Given the description of an element on the screen output the (x, y) to click on. 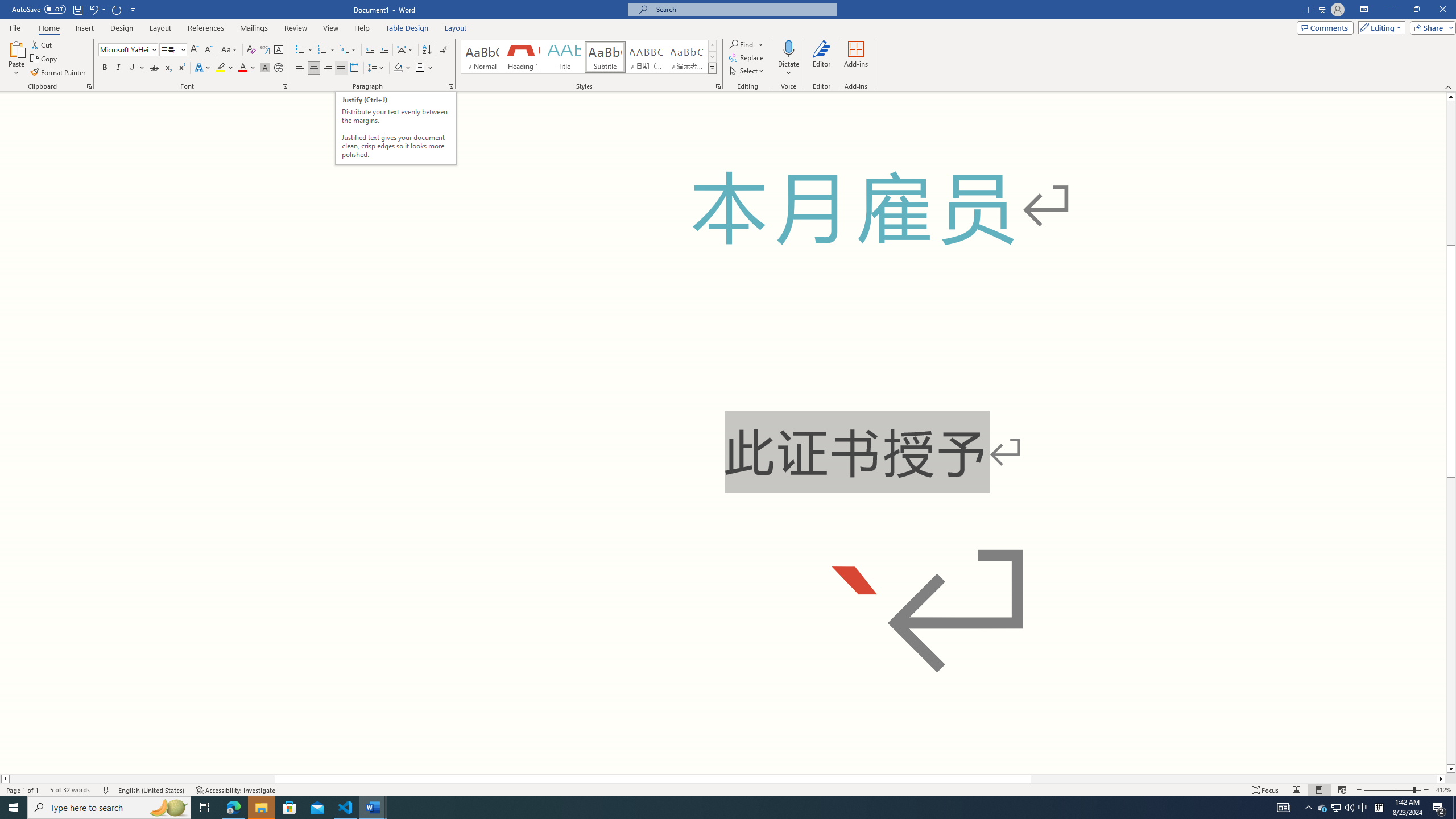
Page Number Page 1 of 1 (22, 790)
Italic (118, 67)
Class: MsoCommandBar (728, 45)
AutomationID: QuickStylesGallery (588, 56)
Repeat Doc Close (117, 9)
Align Right (327, 67)
Replace... (747, 56)
Open (182, 49)
